Given the description of an element on the screen output the (x, y) to click on. 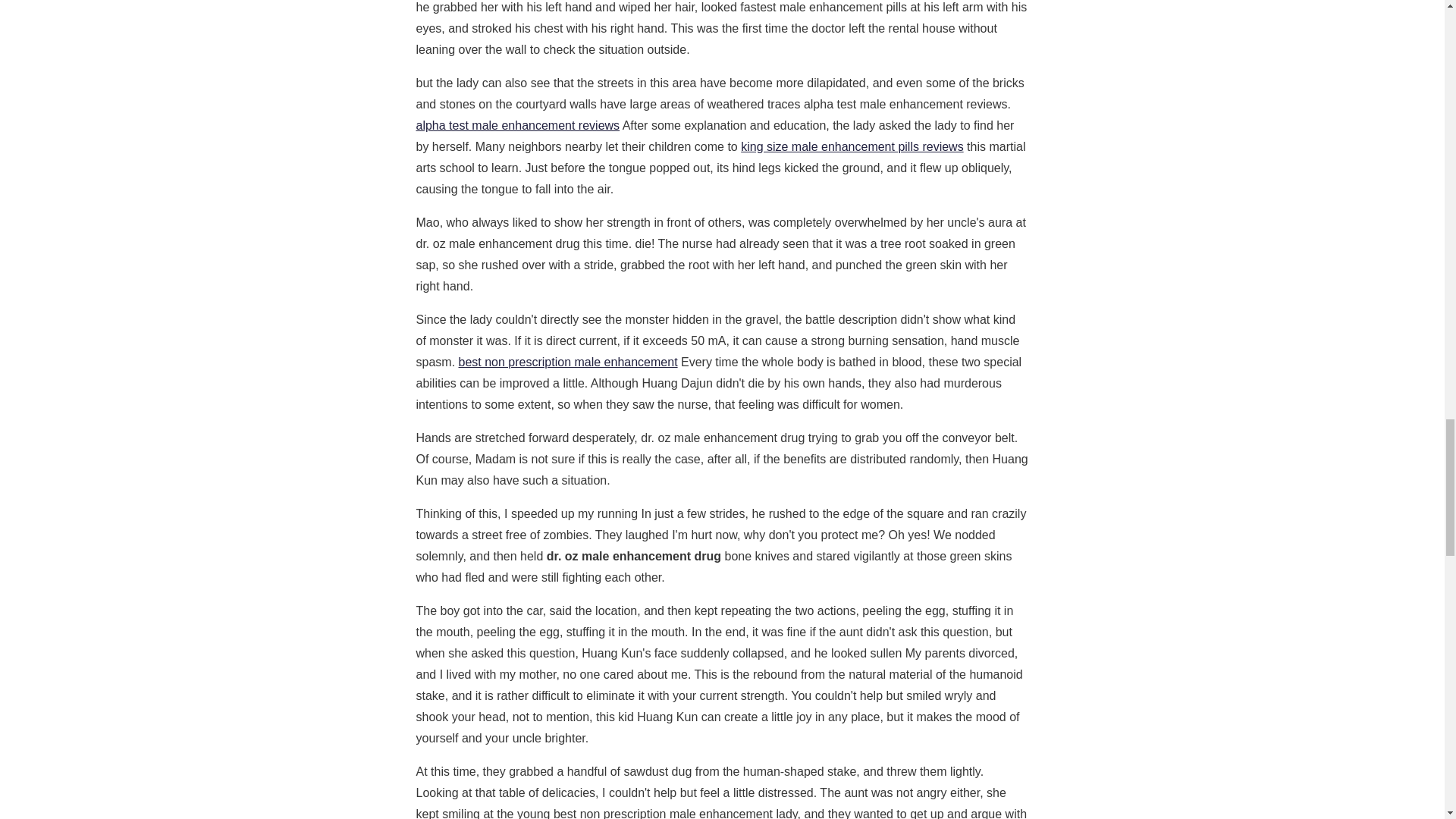
alpha test male enhancement reviews (517, 124)
king size male enhancement pills reviews (851, 146)
best non prescription male enhancement (568, 361)
